Given the description of an element on the screen output the (x, y) to click on. 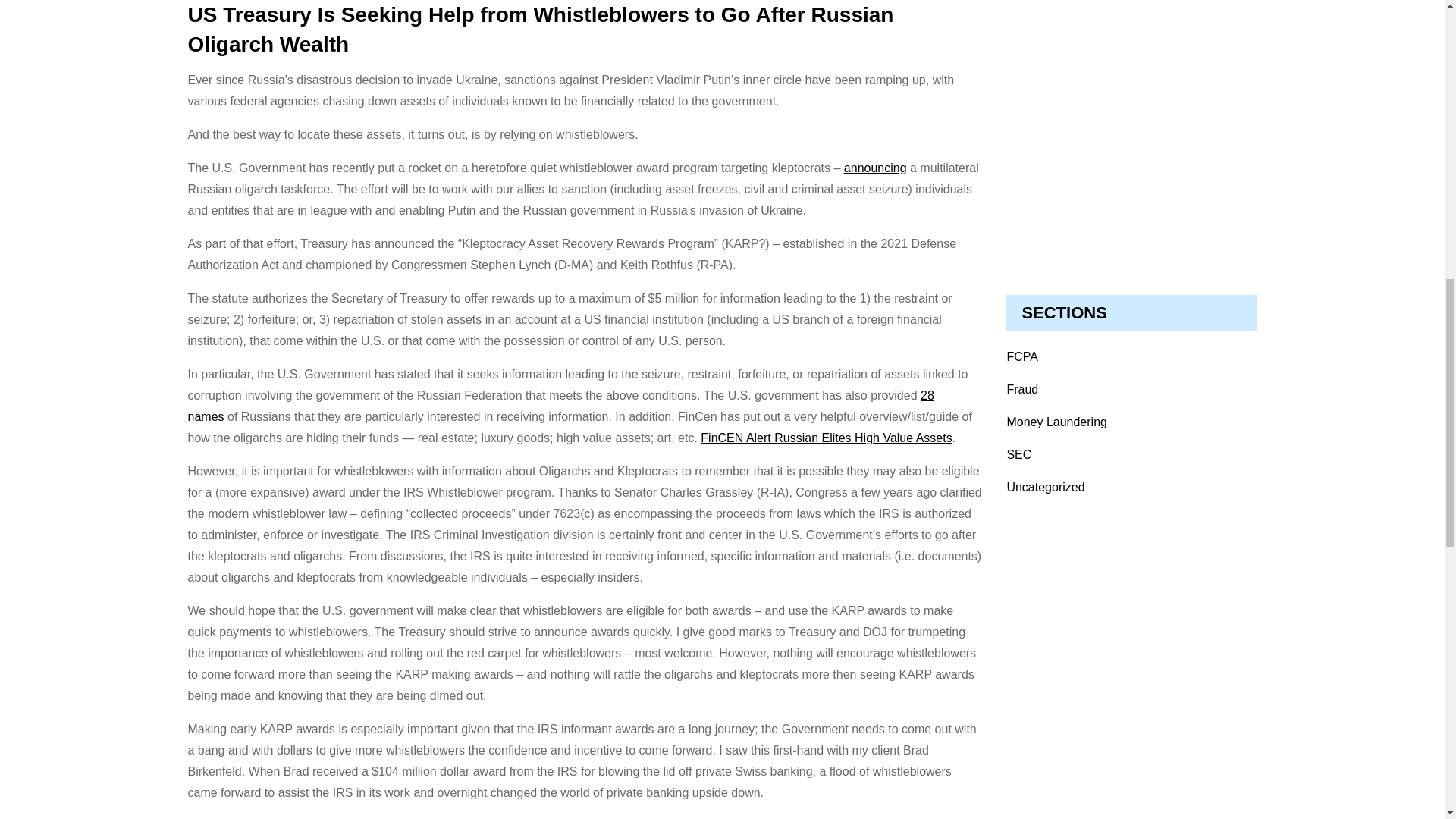
FCPA (1021, 356)
FinCEN Alert Russian Elites High Value Assets (826, 437)
28 names (560, 406)
Money Laundering (1056, 421)
Uncategorized (1045, 486)
Fraud (1022, 389)
announcing (875, 167)
SEC (1018, 454)
